Given the description of an element on the screen output the (x, y) to click on. 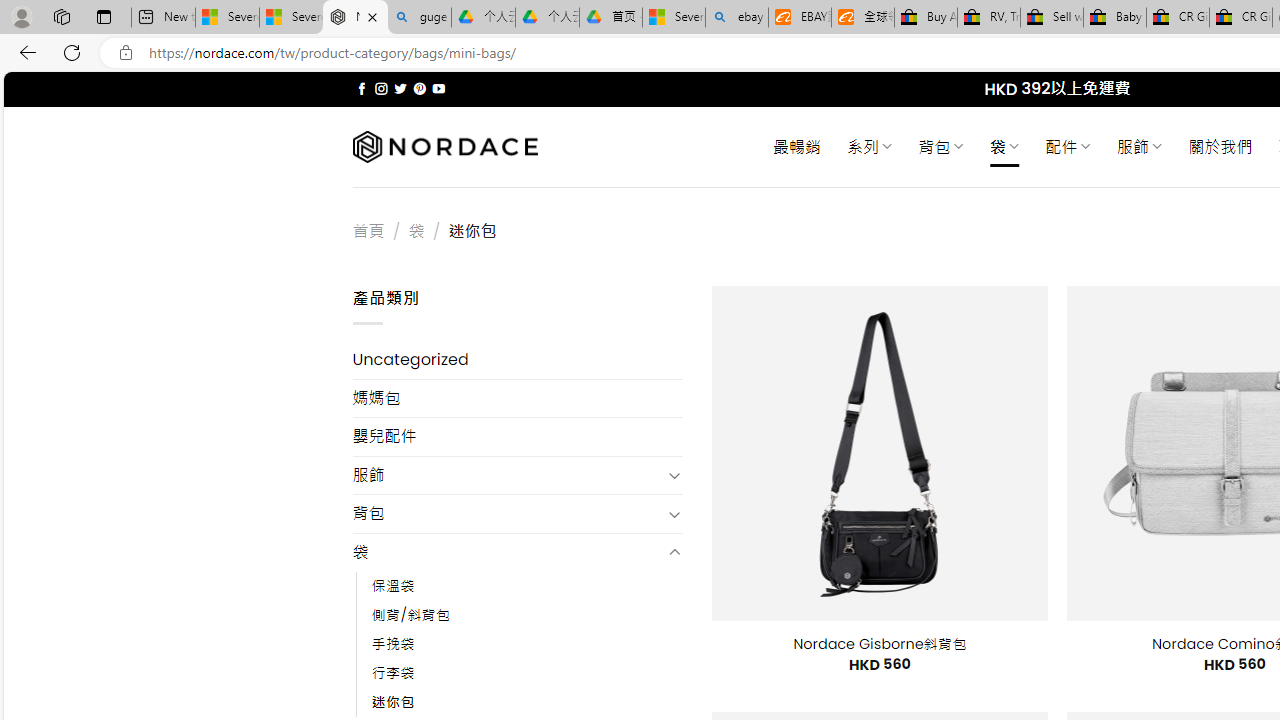
Follow on Twitter (400, 88)
Baby Keepsakes & Announcements for sale | eBay (1114, 17)
Refresh (72, 52)
Follow on Instagram (381, 88)
Follow on Facebook (361, 88)
Tab actions menu (104, 16)
Close tab (372, 16)
Follow on YouTube (438, 88)
